Given the description of an element on the screen output the (x, y) to click on. 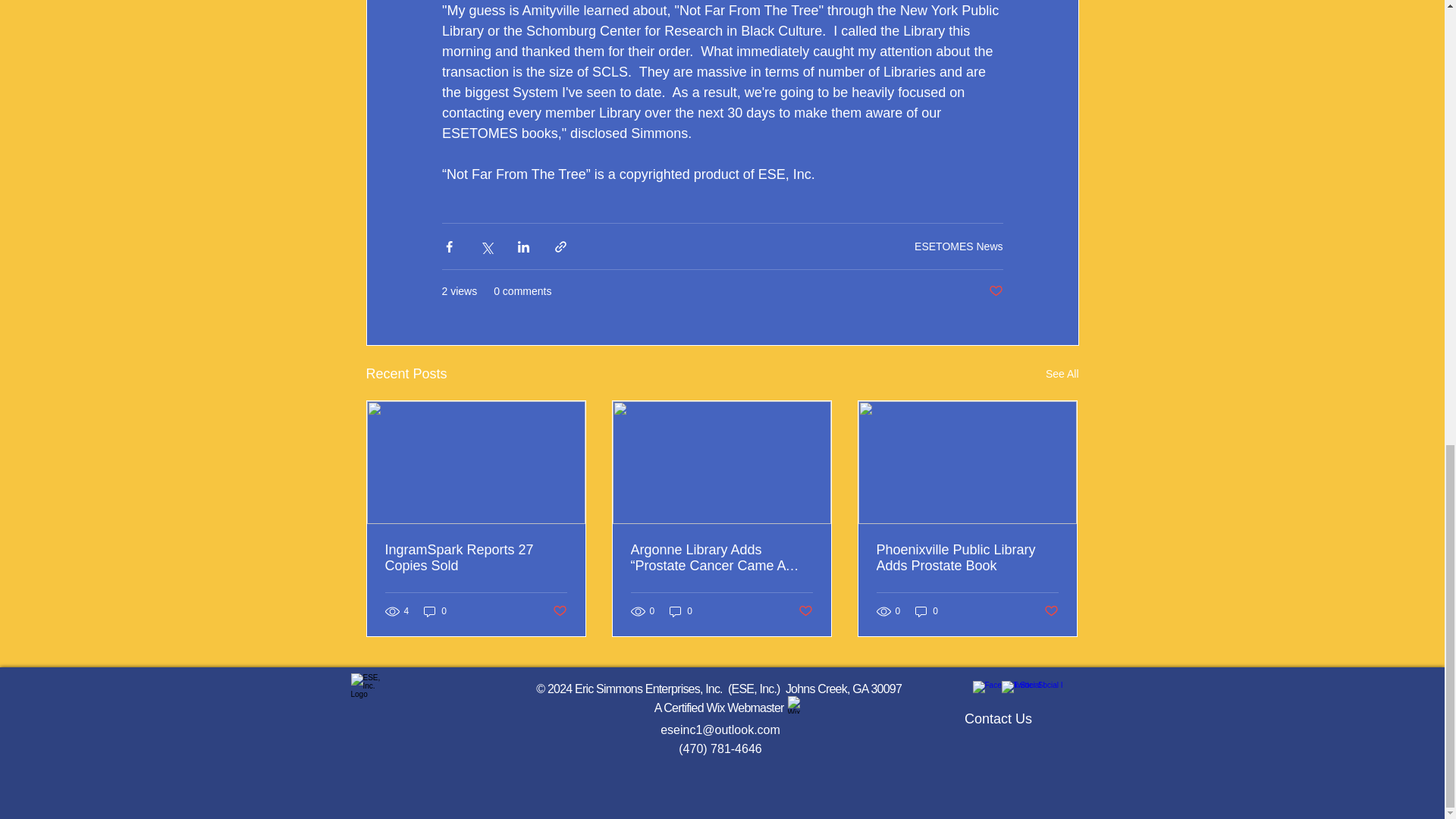
Post not marked as liked (558, 611)
IngramSpark Reports 27 Copies Sold (476, 558)
ESETOMES News (958, 246)
Post not marked as liked (995, 291)
0 (435, 611)
See All (1061, 373)
